Given the description of an element on the screen output the (x, y) to click on. 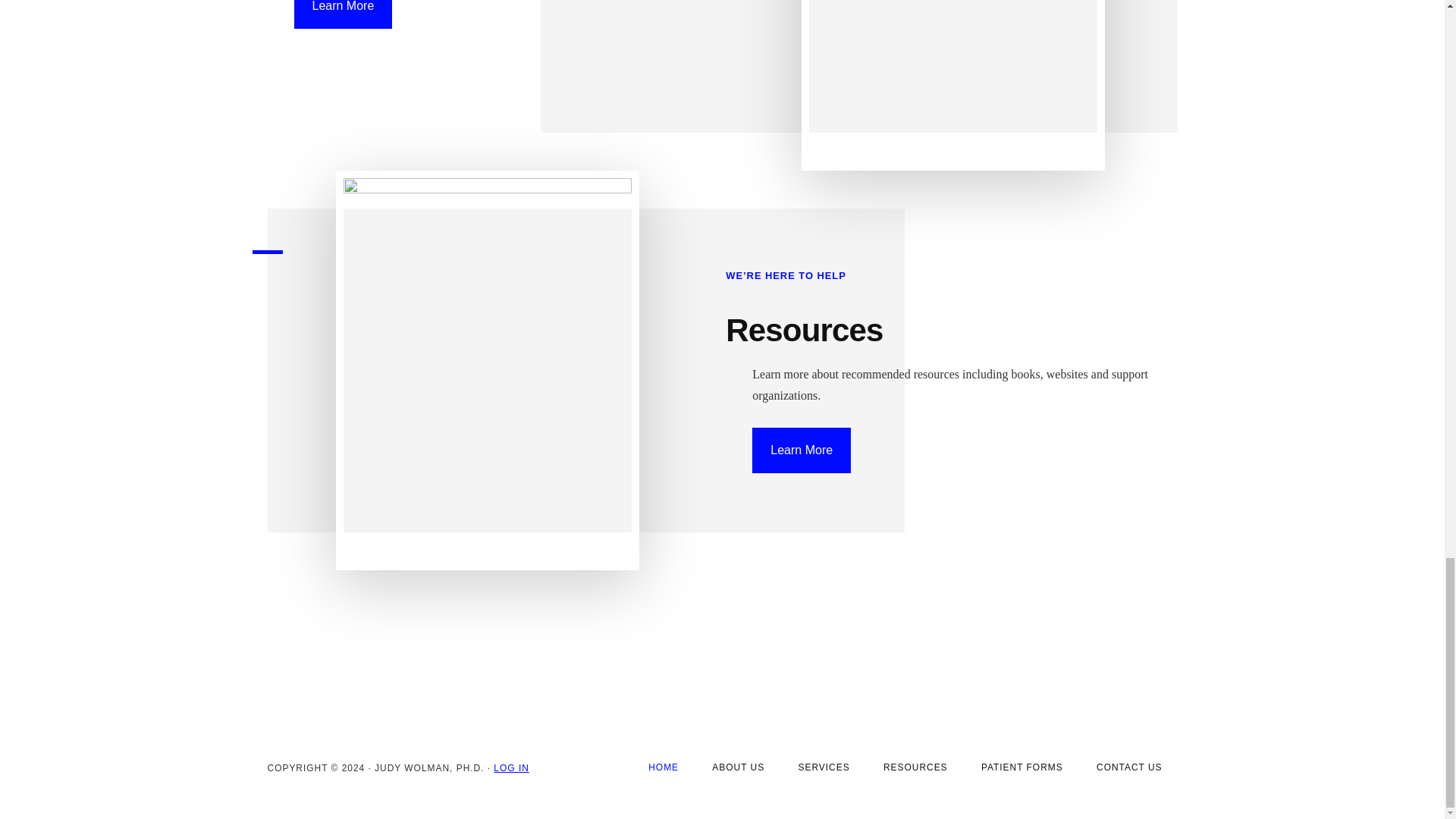
SERVICES (823, 767)
Resources (803, 330)
RESOURCES (914, 767)
PATIENT FORMS (1022, 767)
ABOUT US (737, 767)
CONTACT US (1129, 767)
Learn More (801, 450)
HOME (663, 767)
Learn More (343, 14)
LOG IN (510, 767)
